Given the description of an element on the screen output the (x, y) to click on. 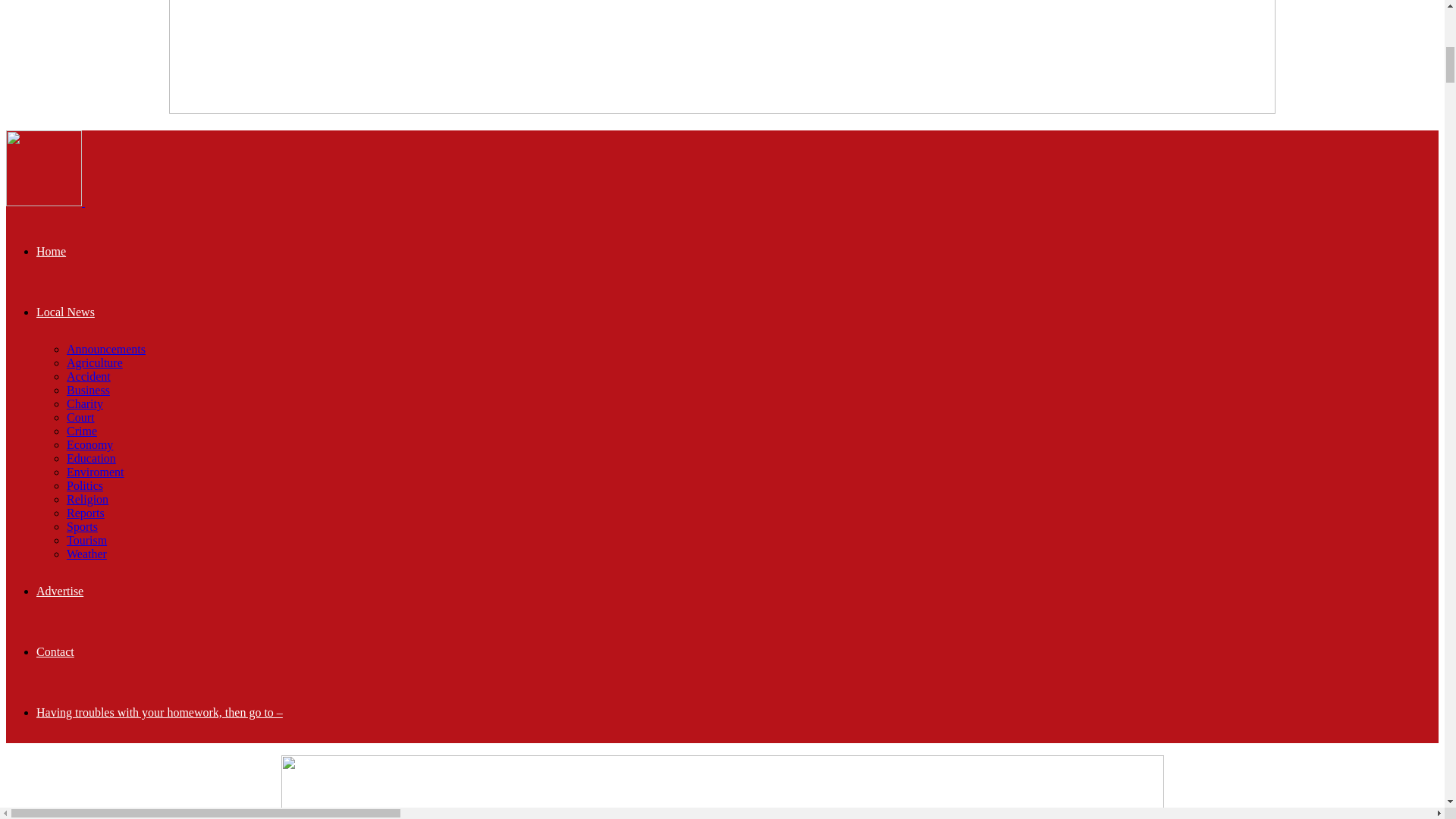
Local News (65, 311)
Home (50, 250)
Announcements (105, 349)
